Given the description of an element on the screen output the (x, y) to click on. 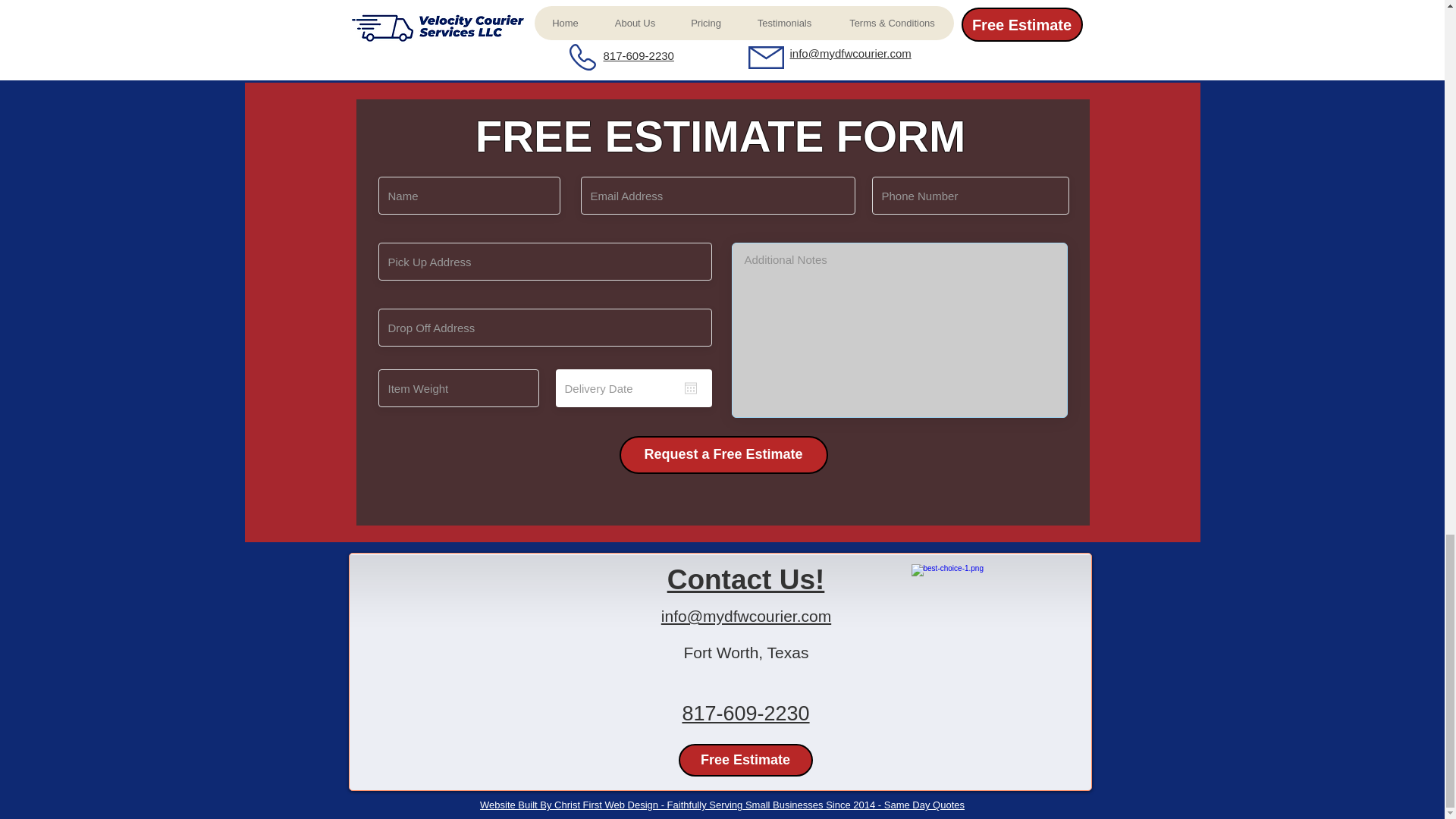
Request a Free Estimate (722, 454)
Free Estimate (745, 759)
817-609-2230 (745, 712)
